Given the description of an element on the screen output the (x, y) to click on. 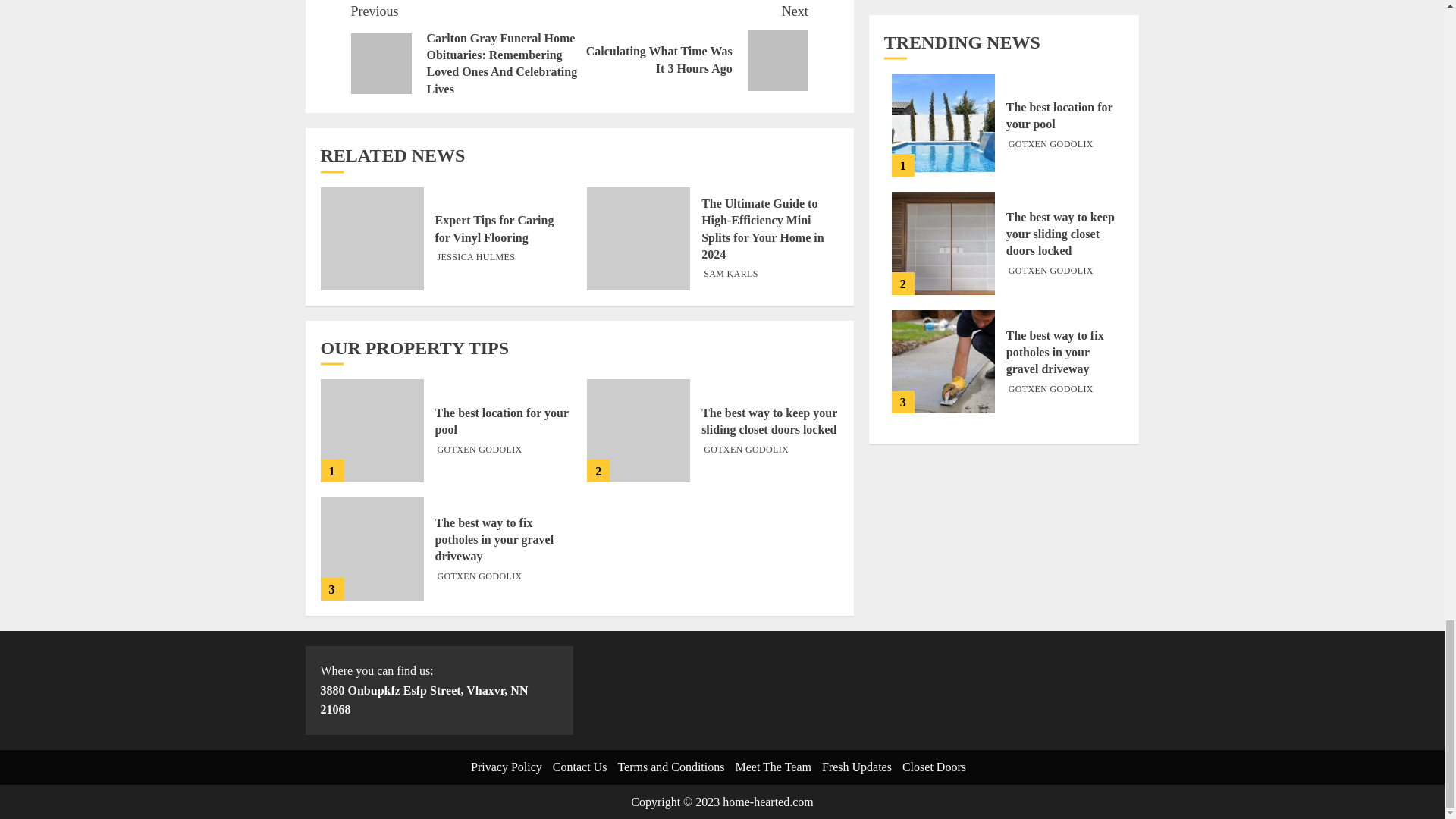
Expert Tips for Caring for Vinyl Flooring (371, 238)
The best way to fix potholes in your gravel driveway (371, 548)
GOTXEN GODOLIX (478, 576)
The best location for your pool (502, 421)
The best way to keep your sliding closet doors locked (638, 430)
GOTXEN GODOLIX (746, 450)
GOTXEN GODOLIX (478, 450)
The best way to fix potholes in your gravel driveway (494, 540)
The best way to keep your sliding closet doors locked (769, 421)
JESSICA HULMES (475, 257)
The best location for your pool (371, 430)
SAM KARLS (730, 274)
